Given the description of an element on the screen output the (x, y) to click on. 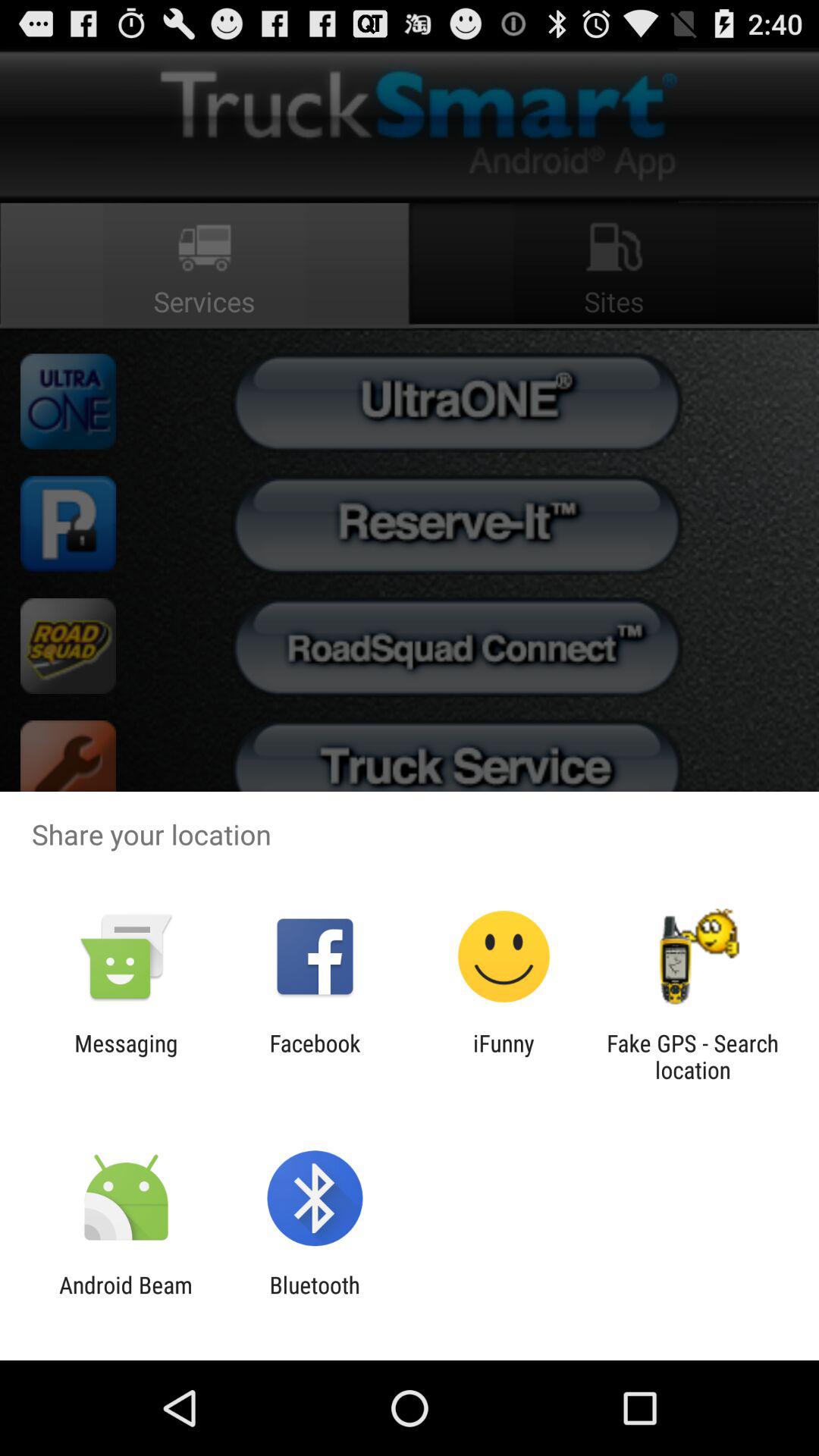
click item next to bluetooth app (125, 1298)
